Given the description of an element on the screen output the (x, y) to click on. 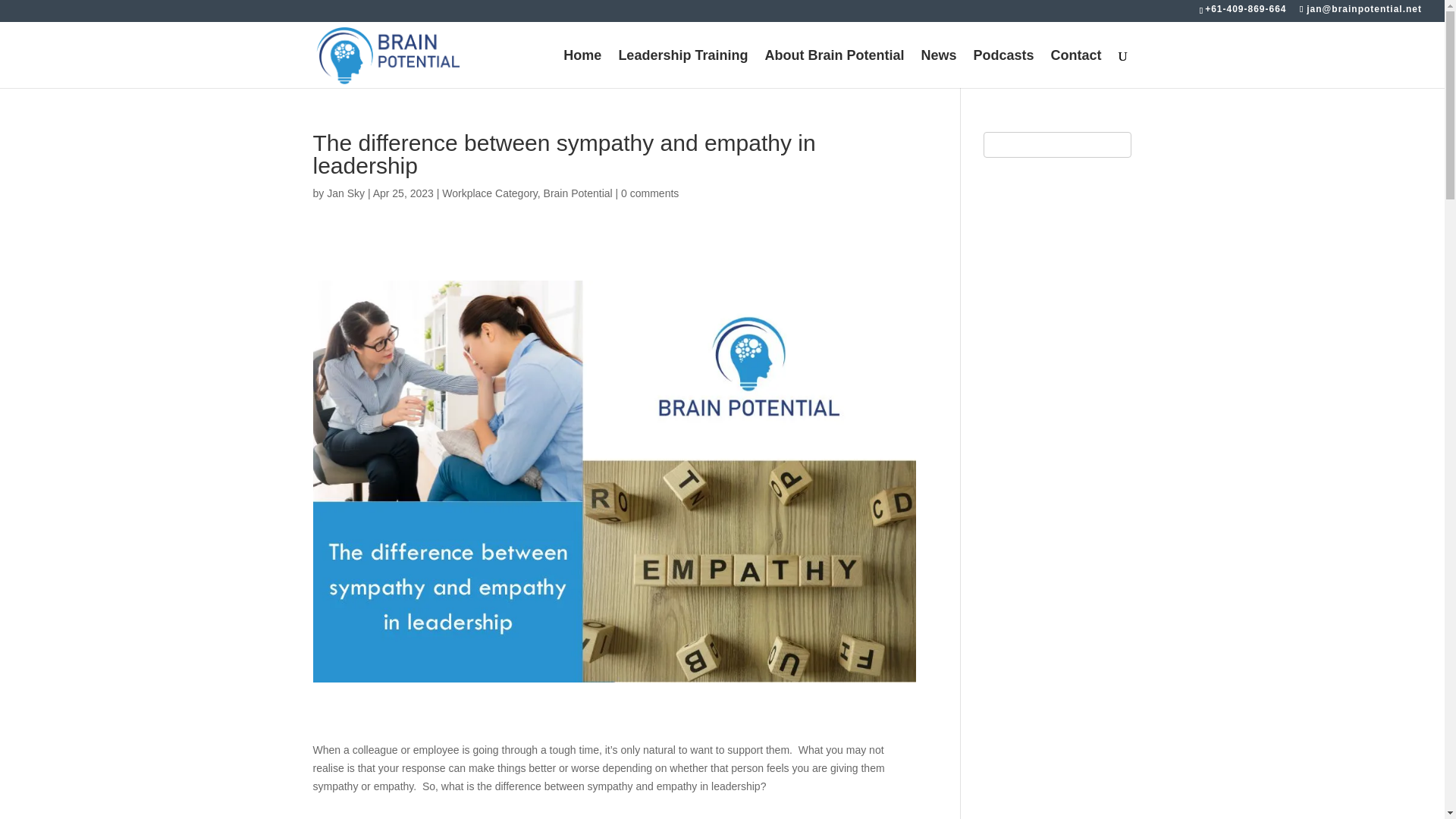
News (938, 68)
Leadership Training (682, 68)
Contact (1076, 68)
0 comments (649, 193)
About Brain Potential (834, 68)
Posts by Jan Sky (345, 193)
Brain Potential (577, 193)
Jan Sky (345, 193)
Podcasts (1002, 68)
Workplace Category (489, 193)
Home (582, 68)
